Given the description of an element on the screen output the (x, y) to click on. 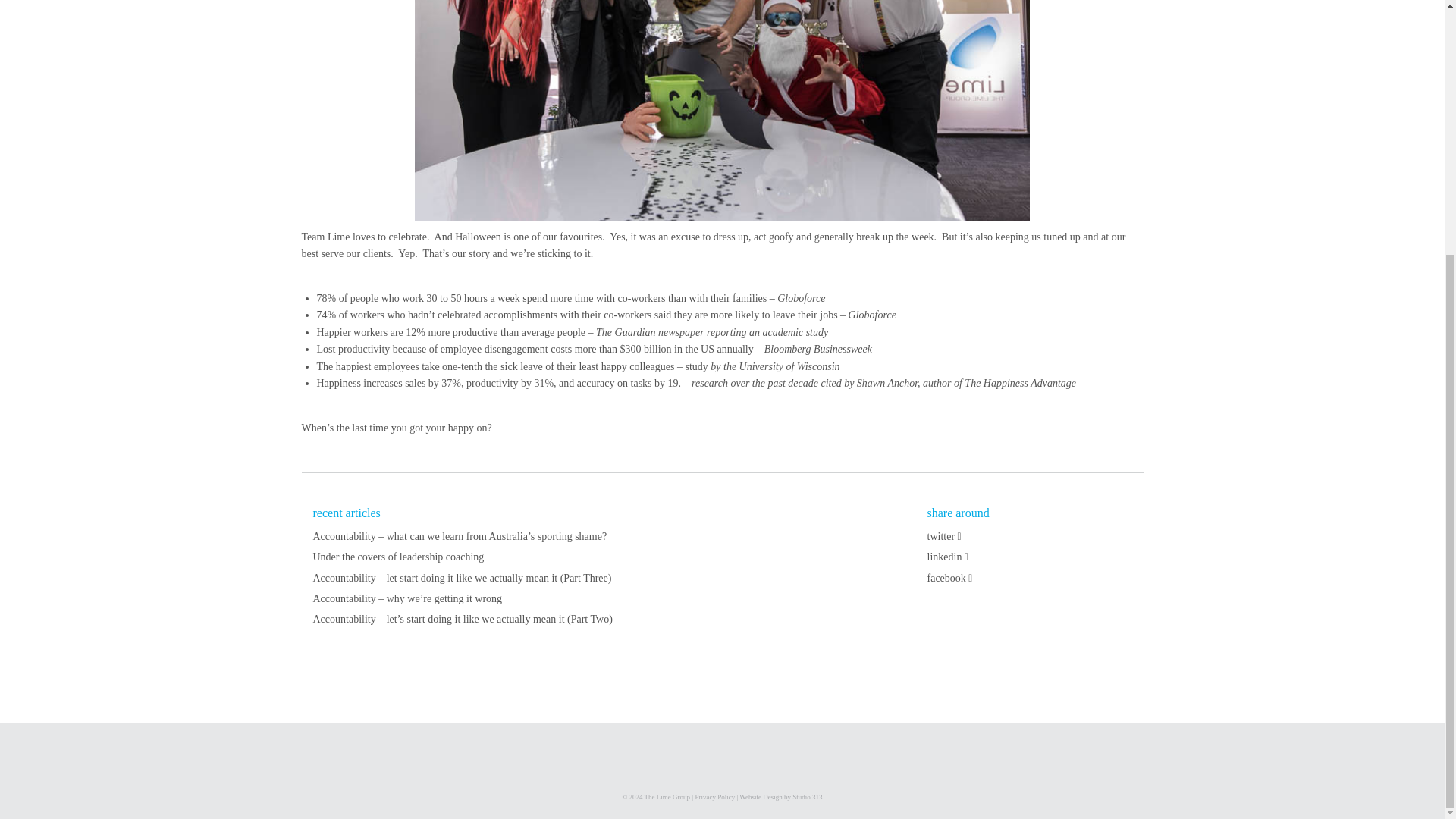
linkedin (947, 556)
Website Design (761, 796)
twitter (943, 536)
Privacy Policy (714, 796)
facebook (949, 577)
Under the covers of leadership coaching (398, 556)
WordPress Development (807, 796)
Studio 313 (807, 796)
Website Design (761, 796)
The Lime Group (667, 796)
